Given the description of an element on the screen output the (x, y) to click on. 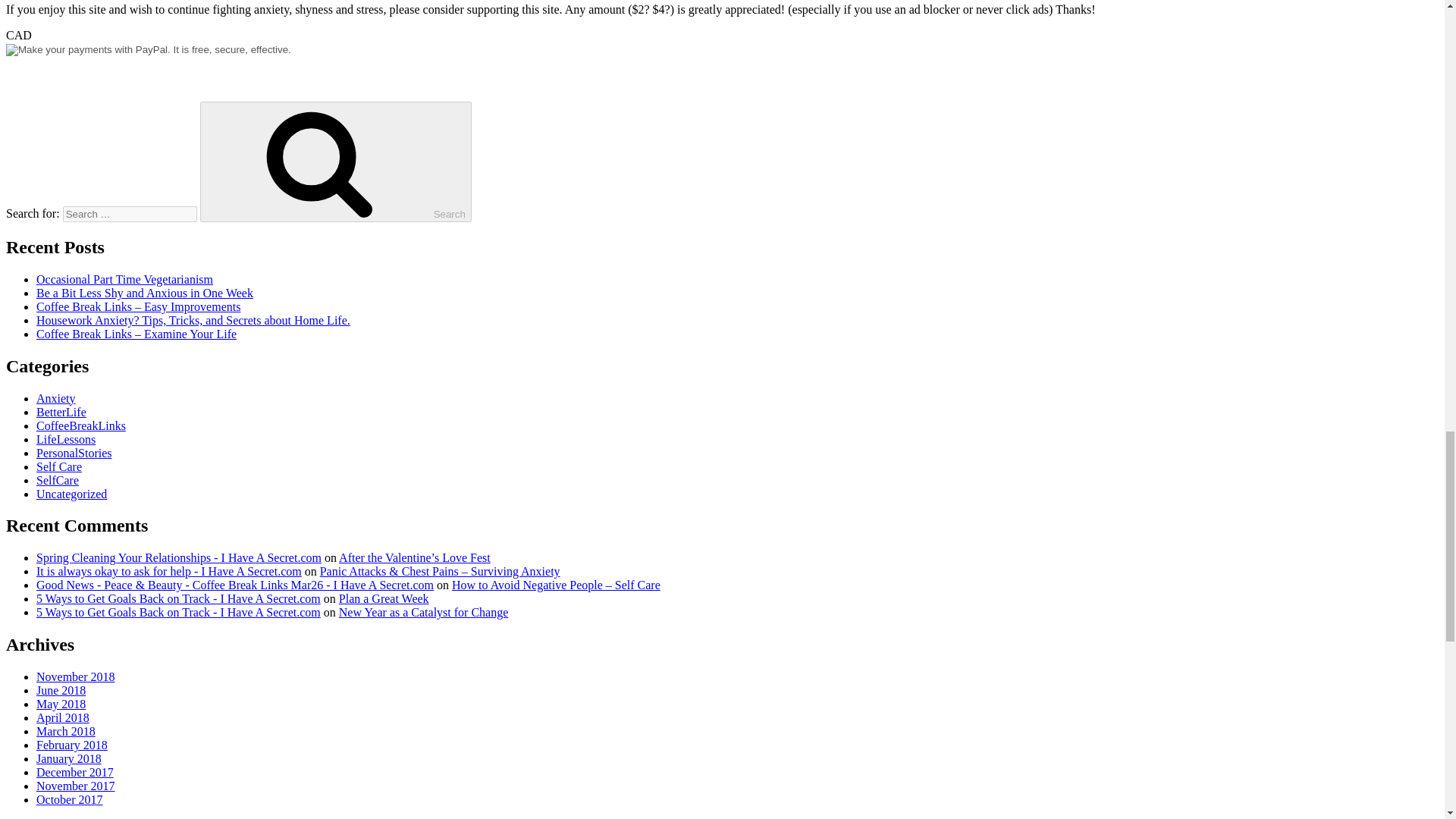
CoffeeBreakLinks (80, 424)
Anxiety (55, 397)
Be a Bit Less Shy and Anxious in One Week (144, 292)
Search (335, 161)
BetterLife (60, 410)
Occasional Part Time Vegetarianism (124, 278)
